Given the description of an element on the screen output the (x, y) to click on. 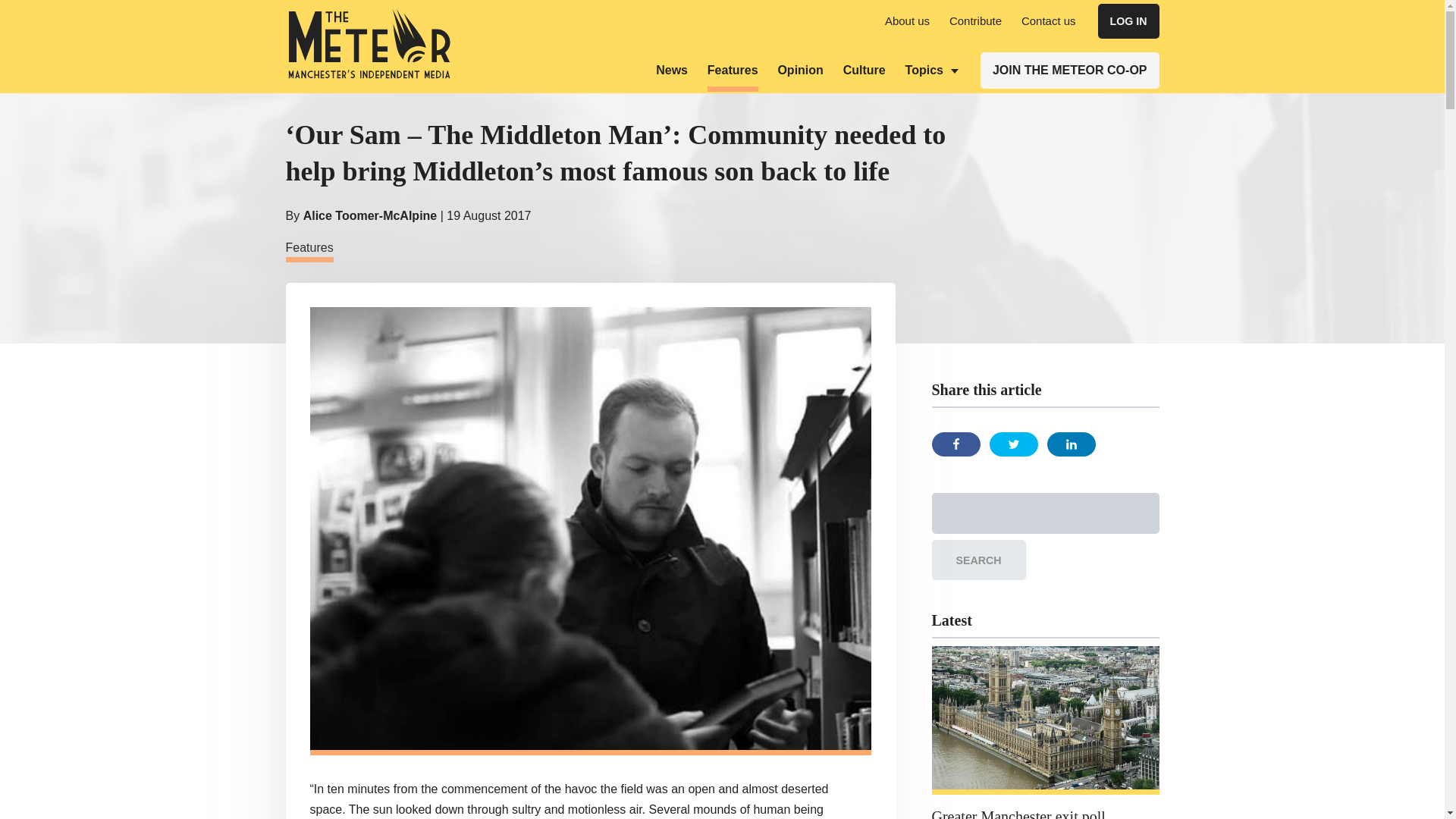
Features (309, 250)
Culture (864, 69)
Search (978, 559)
Contribute (975, 19)
LOG IN (1128, 21)
Opinion (799, 69)
Share on Twitter (1012, 444)
Share on LinkedIn (1070, 444)
Search (978, 559)
Features (732, 77)
About us (907, 19)
Contact us (1048, 19)
Share on Facebook (955, 444)
Topics (931, 69)
